Given the description of an element on the screen output the (x, y) to click on. 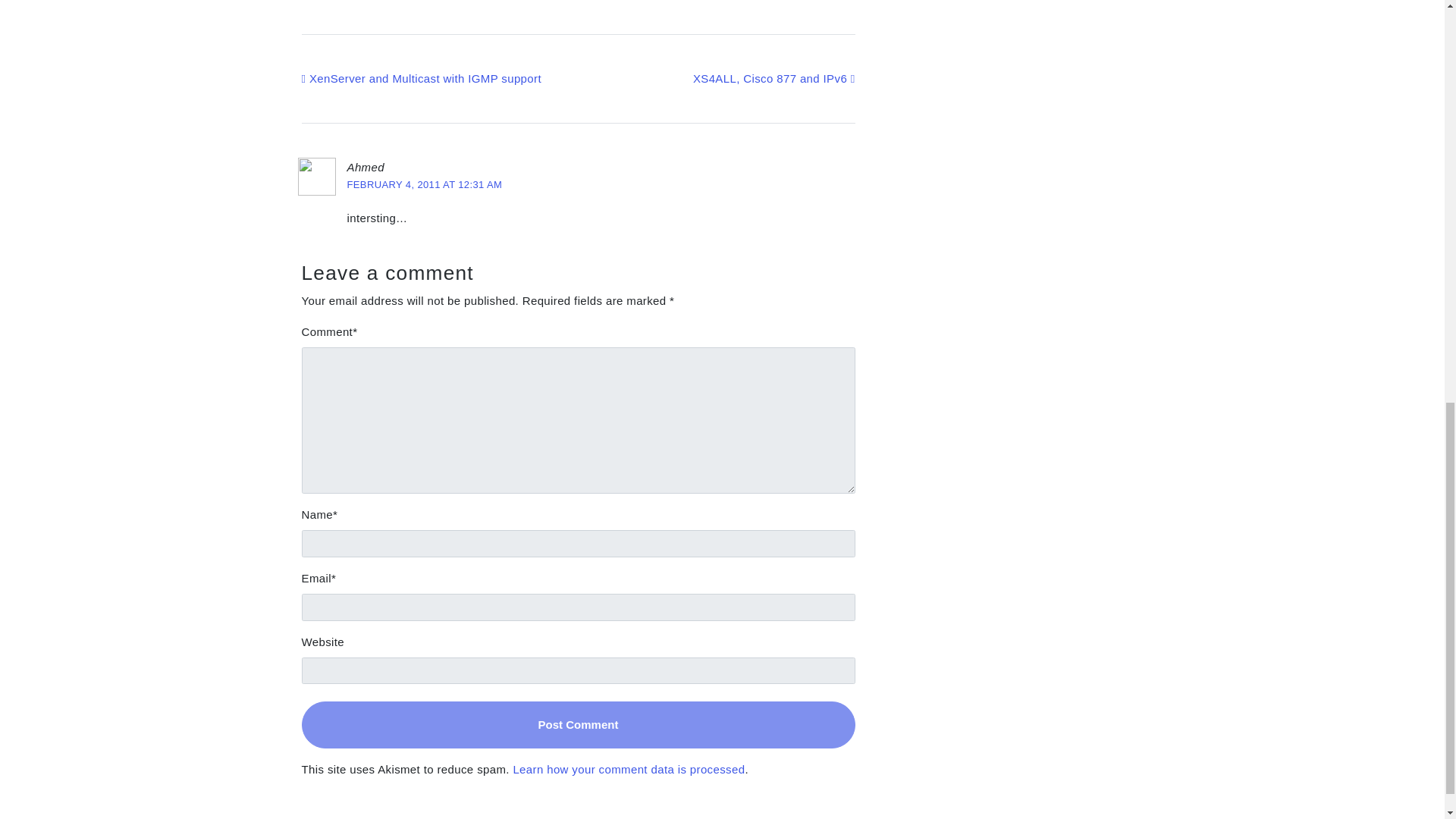
Post Comment (578, 724)
Post Comment (578, 724)
XenServer and Multicast with IGMP support (421, 78)
Learn how your comment data is processed (628, 768)
XS4ALL, Cisco 877 and IPv6 (774, 78)
FEBRUARY 4, 2011 AT 12:31 AM (424, 184)
